Given the description of an element on the screen output the (x, y) to click on. 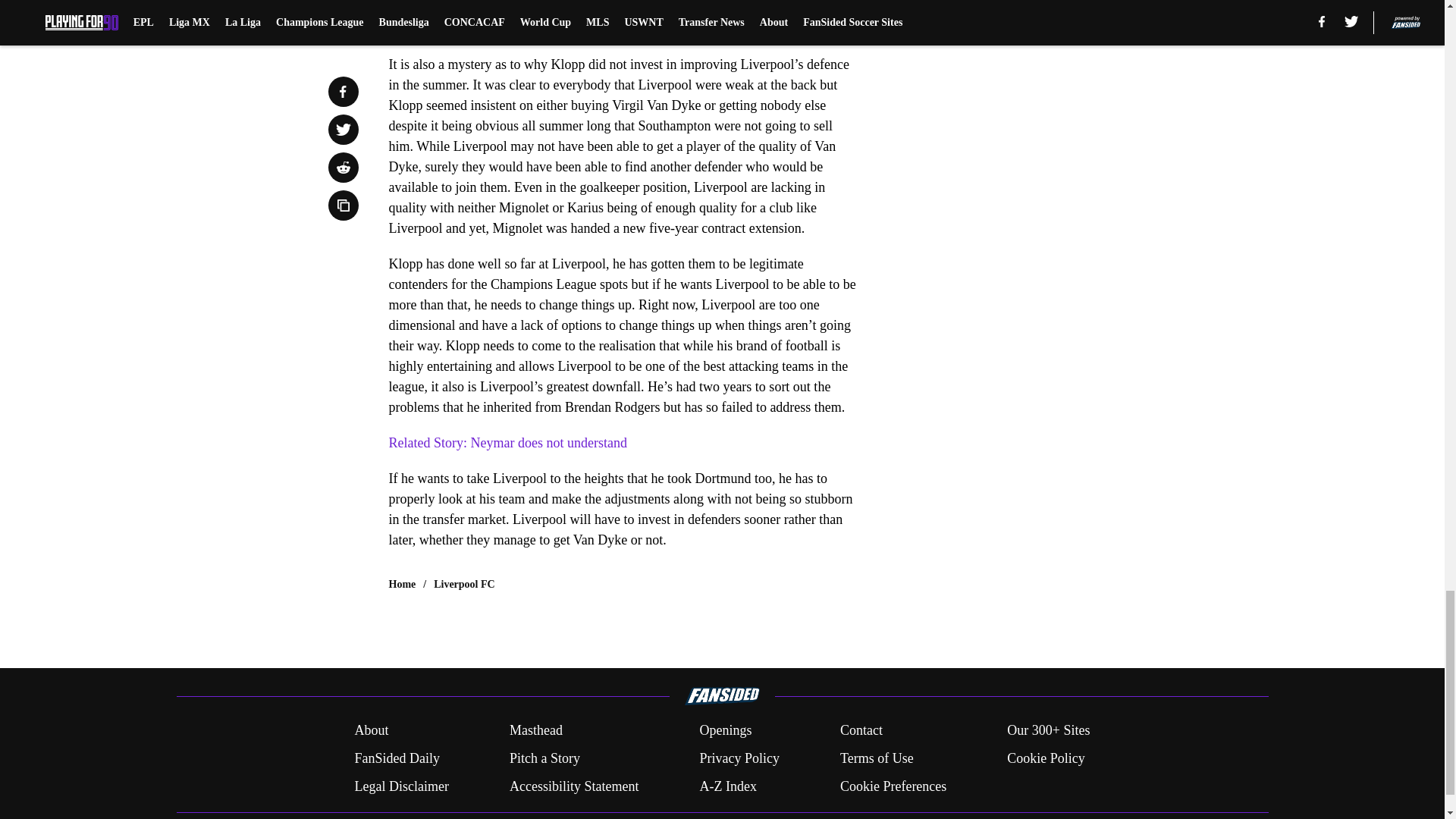
About (370, 730)
Contact (861, 730)
Terms of Use (877, 758)
FanSided Daily (396, 758)
Related Story: Neymar does not understand (507, 442)
Home (401, 584)
Masthead (535, 730)
Privacy Policy (738, 758)
Openings (724, 730)
Liverpool FC (464, 584)
Pitch a Story (544, 758)
